Given the description of an element on the screen output the (x, y) to click on. 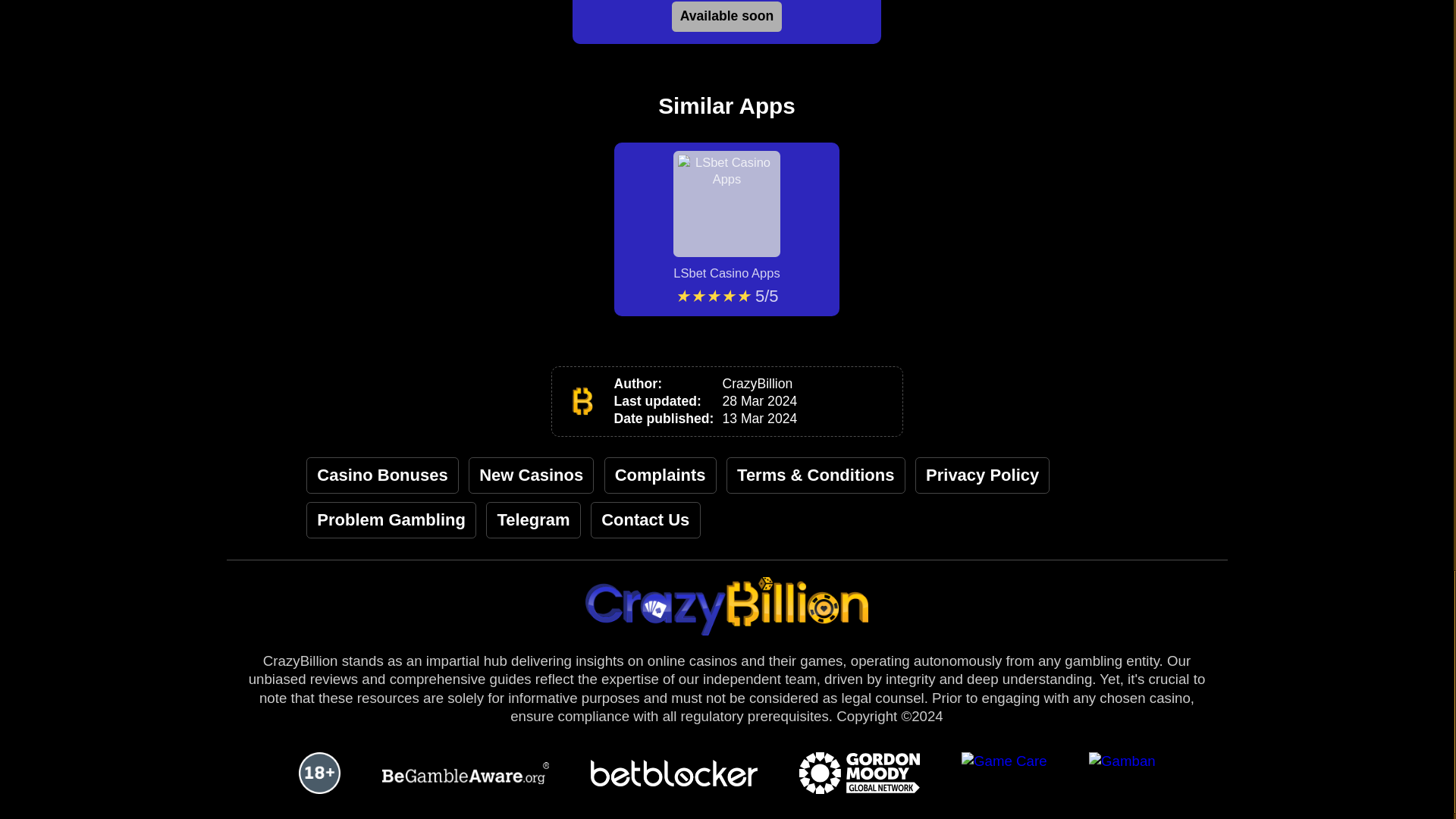
LSbet Casino Apps (727, 215)
